Given the description of an element on the screen output the (x, y) to click on. 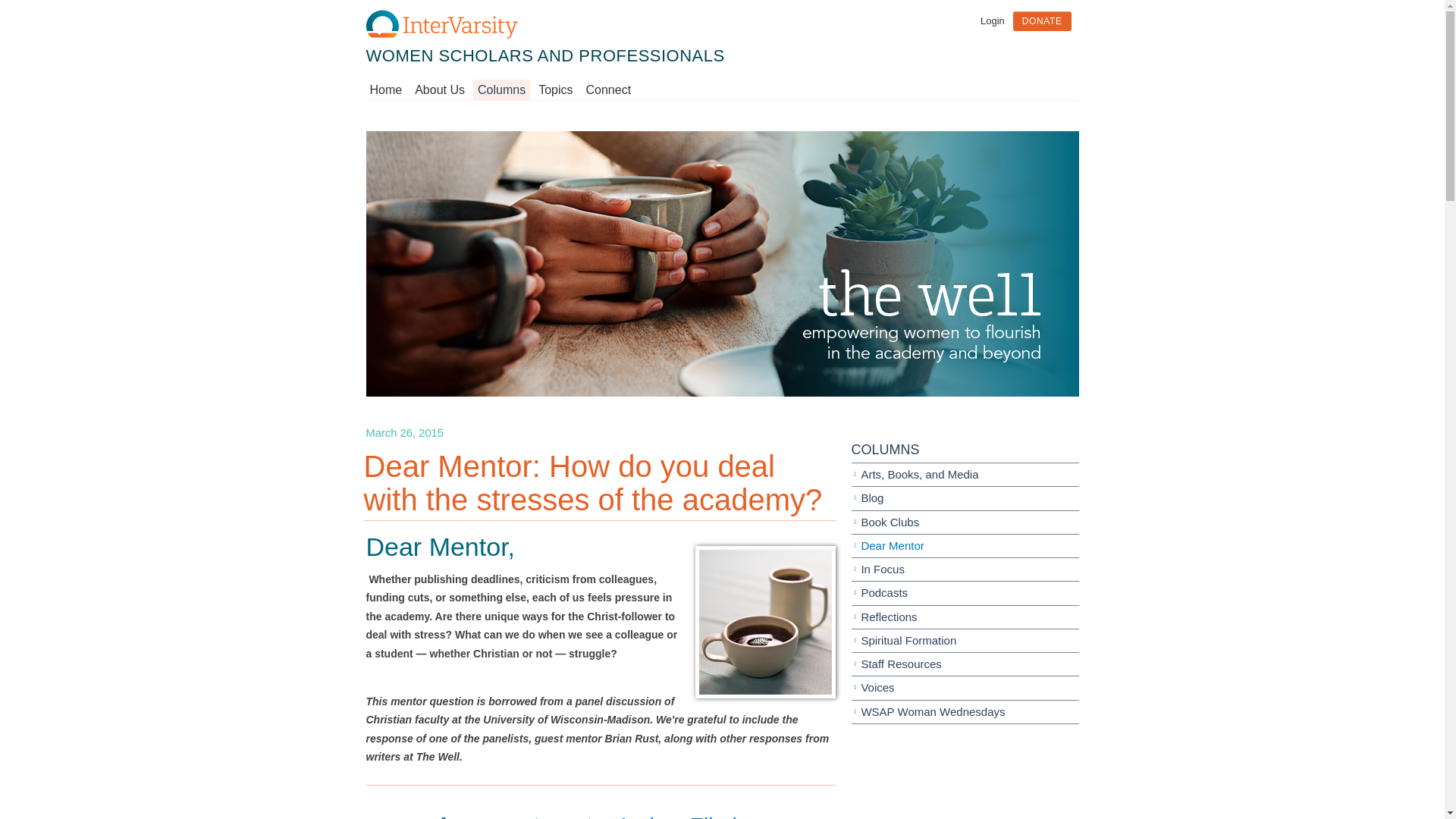
DONATE (1042, 21)
Login (992, 20)
Home (388, 90)
Topics (555, 90)
Home (544, 54)
Arts, Books, and Media (964, 474)
Columns (501, 90)
InterVarsity (440, 34)
WOMEN SCHOLARS AND PROFESSIONALS (544, 54)
Connect (607, 90)
